Given the description of an element on the screen output the (x, y) to click on. 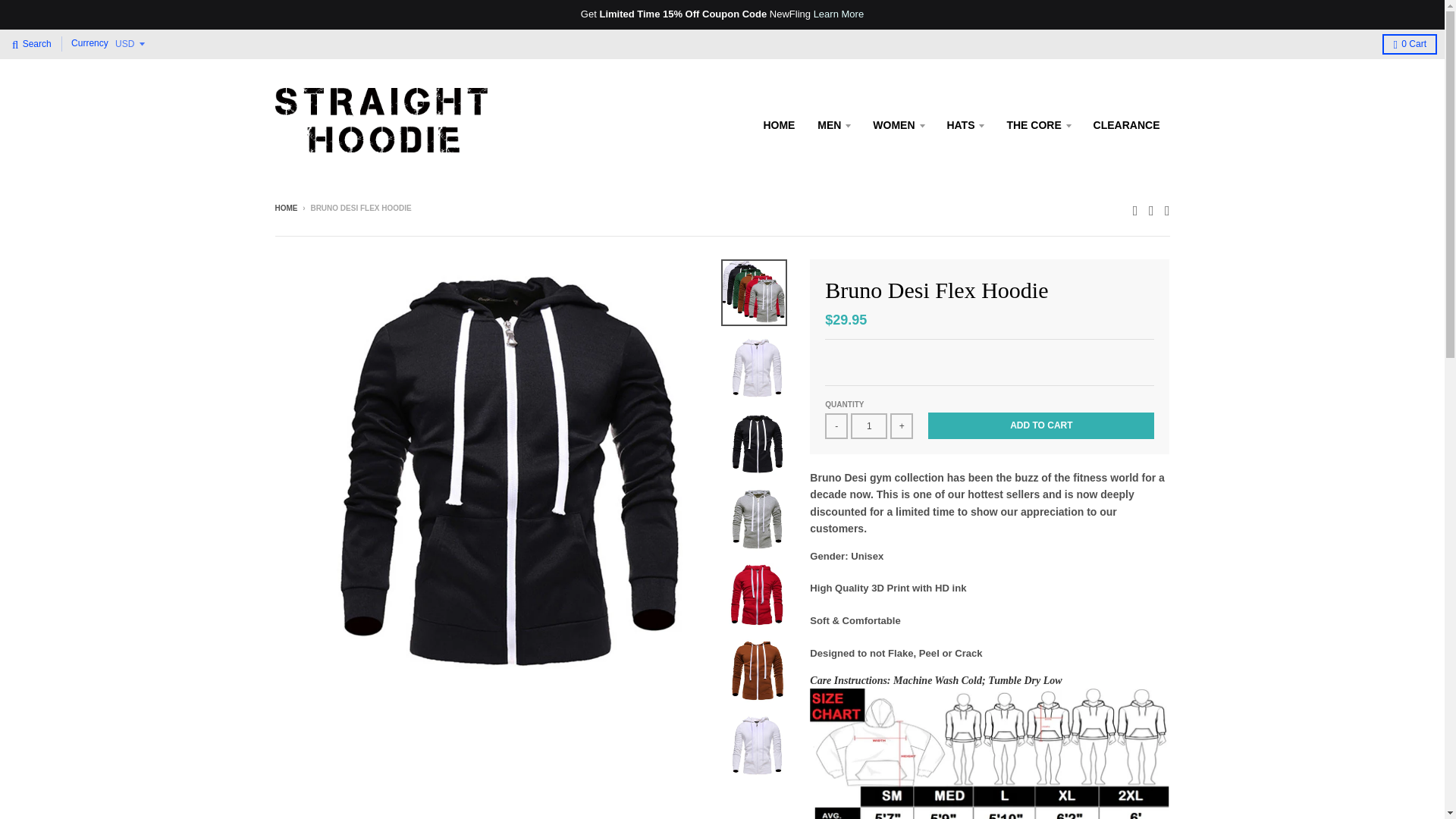
MEN (834, 124)
HOME (286, 207)
Search (31, 44)
WOMEN (898, 124)
HOME (778, 124)
1 (868, 425)
0 Cart (1409, 44)
HATS (964, 124)
CLEARANCE (1126, 124)
Learn More (838, 13)
THE CORE (1037, 124)
Back to the frontpage (286, 207)
